Given the description of an element on the screen output the (x, y) to click on. 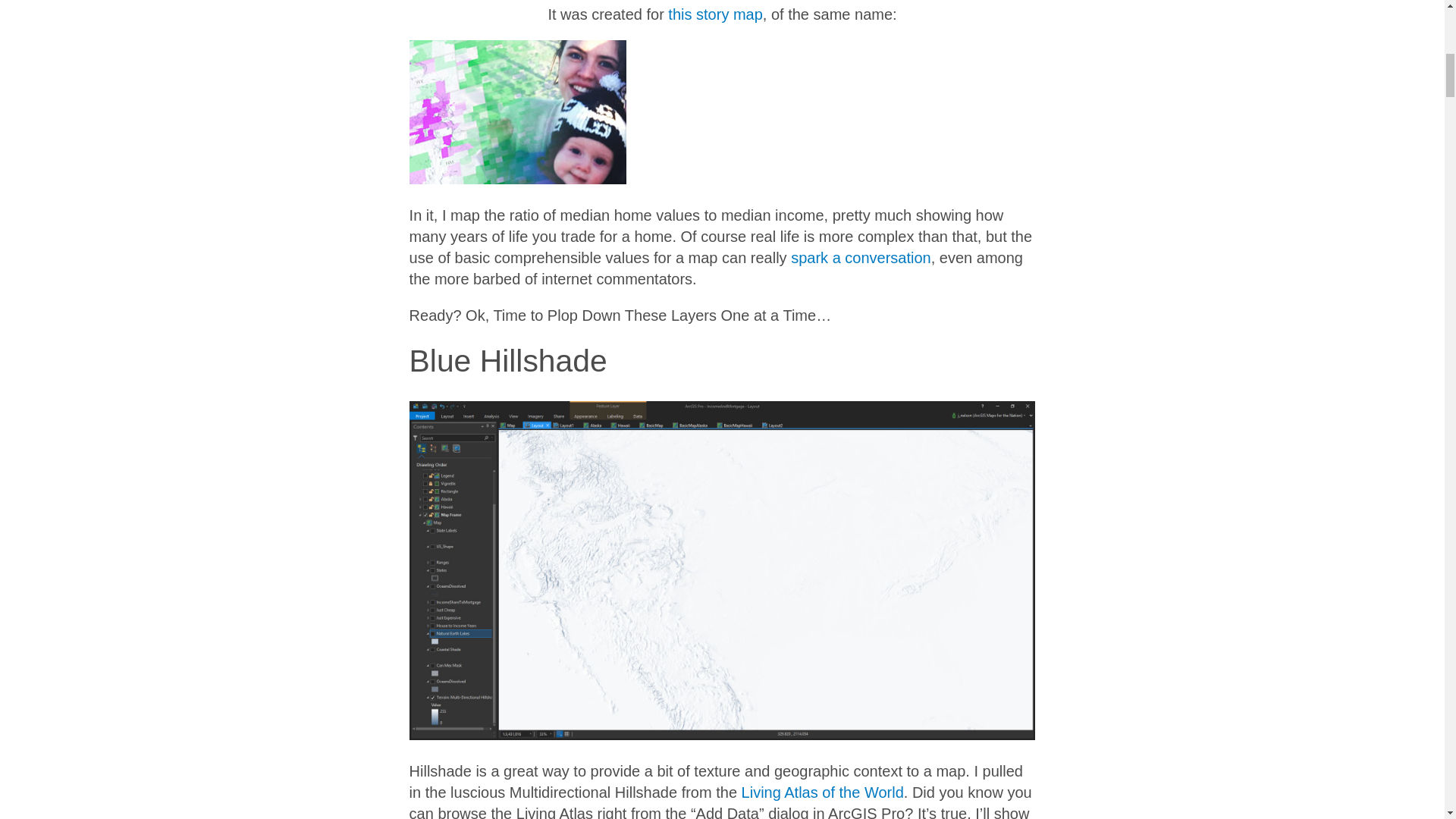
Living Atlas of the World (822, 791)
this story map (714, 13)
spark a conversation (860, 257)
